Given the description of an element on the screen output the (x, y) to click on. 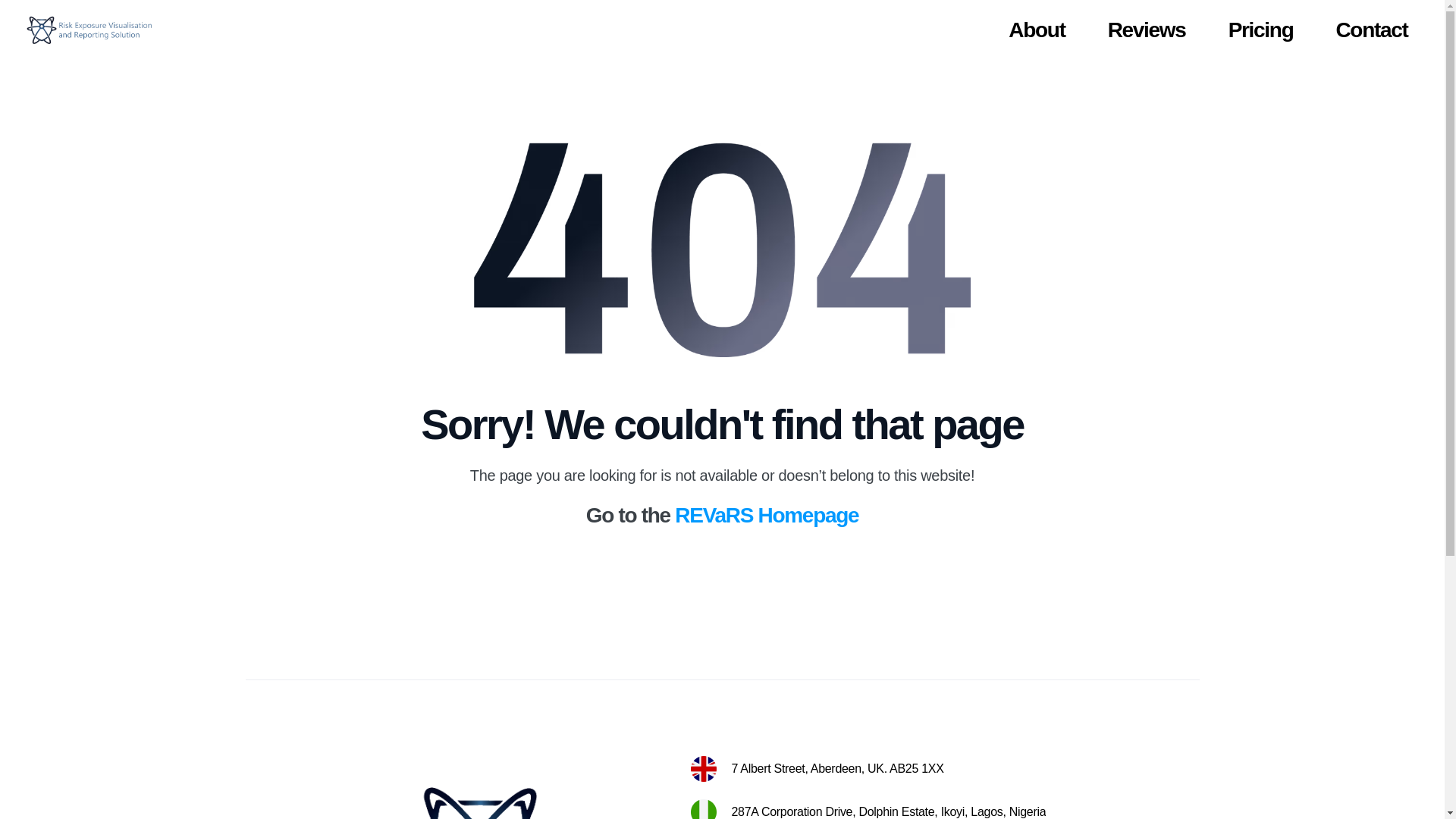
Contact (1371, 30)
Reviews (1147, 30)
REVaRS Homepage (767, 515)
About (1036, 30)
Pricing (1261, 30)
7 Albert Street, Aberdeen, UK. AB25 1XX (836, 768)
